Given the description of an element on the screen output the (x, y) to click on. 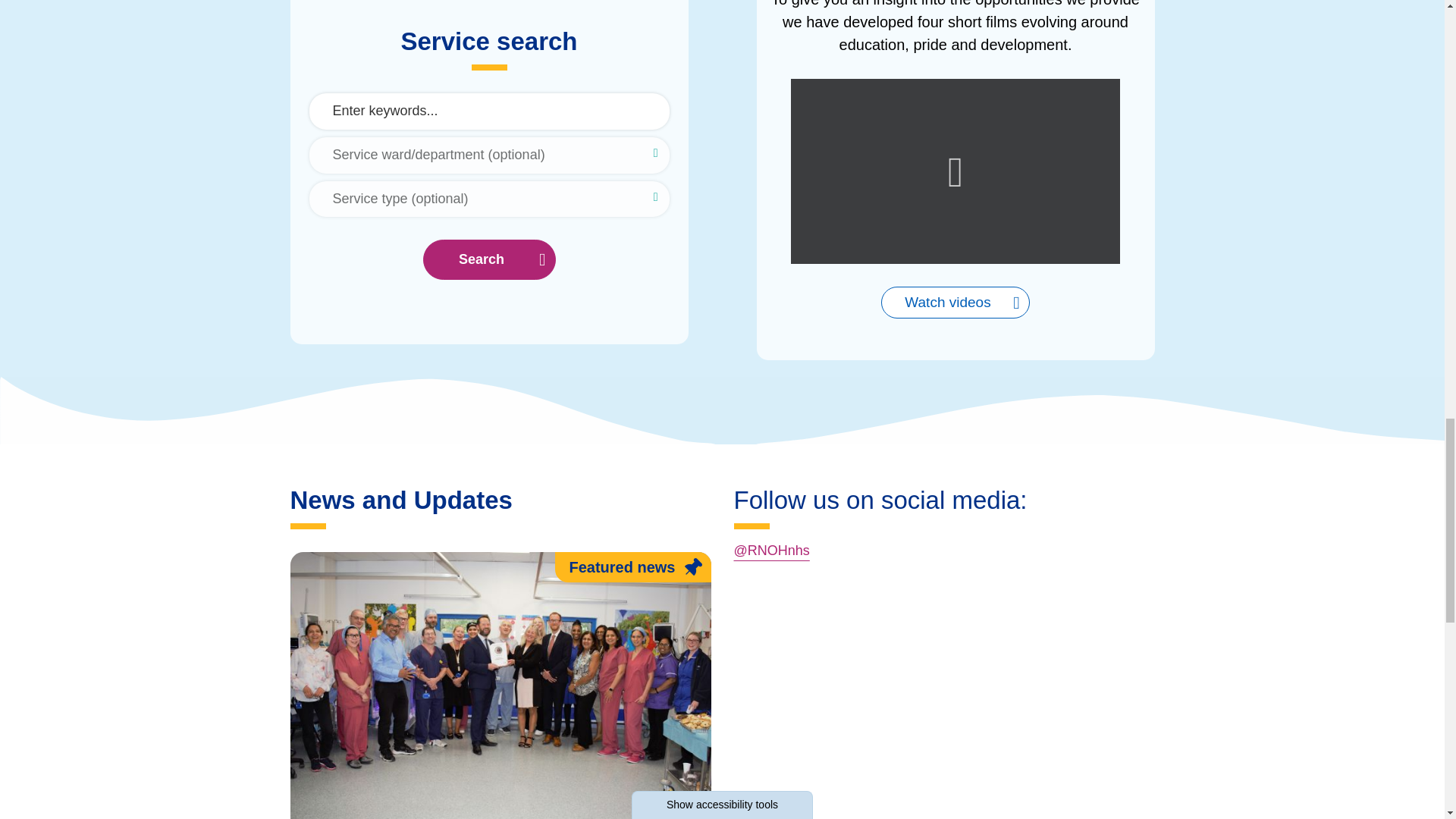
View link (954, 302)
